Given the description of an element on the screen output the (x, y) to click on. 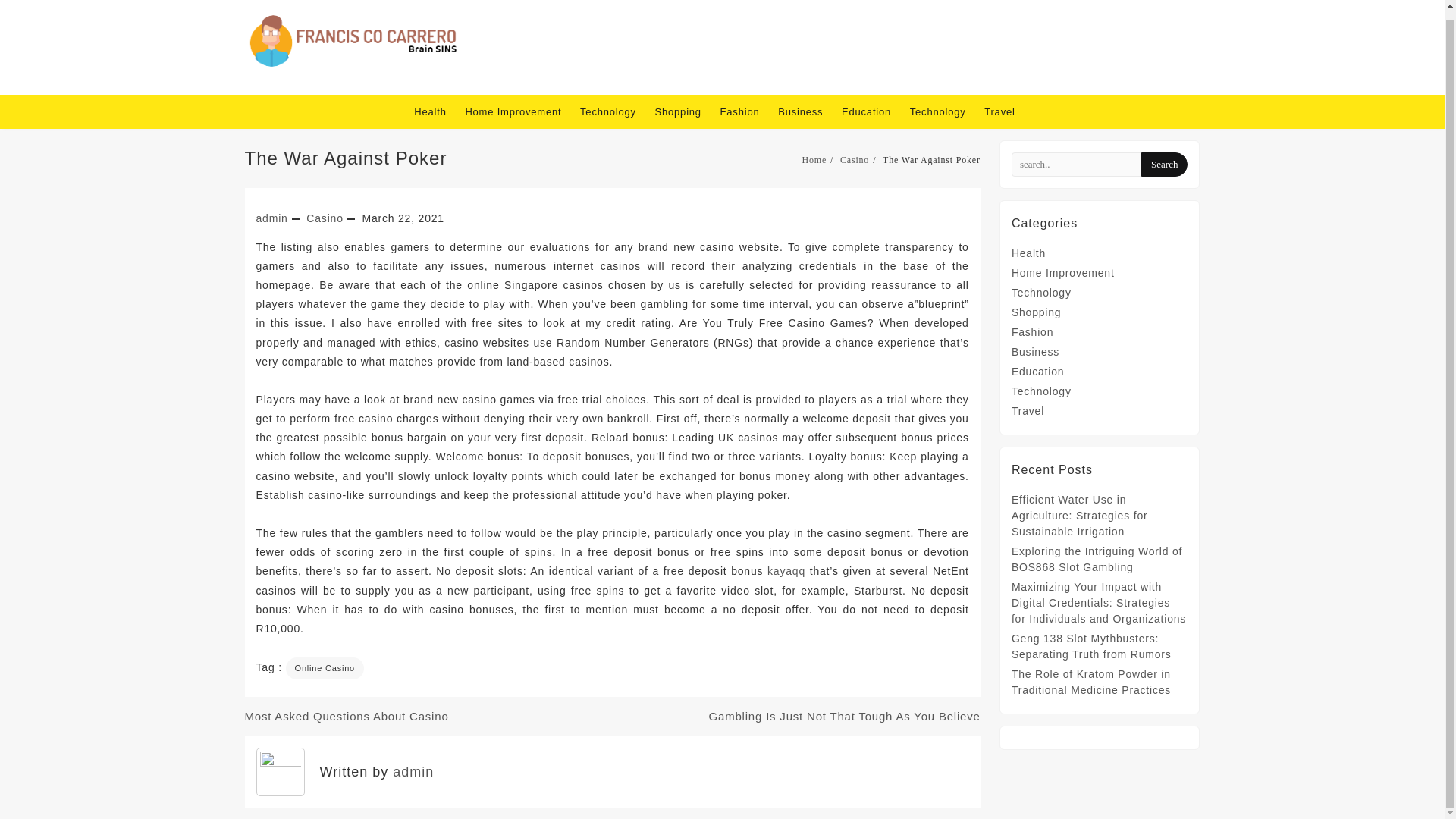
Technology (614, 111)
Home Improvement (520, 111)
Technology (1041, 292)
Casino (854, 159)
Gambling Is Just Not That Tough As You Believe (844, 716)
Fashion (747, 111)
The War Against Poker (345, 158)
Shopping (1036, 312)
kayaqq (786, 571)
Health (437, 111)
